Given the description of an element on the screen output the (x, y) to click on. 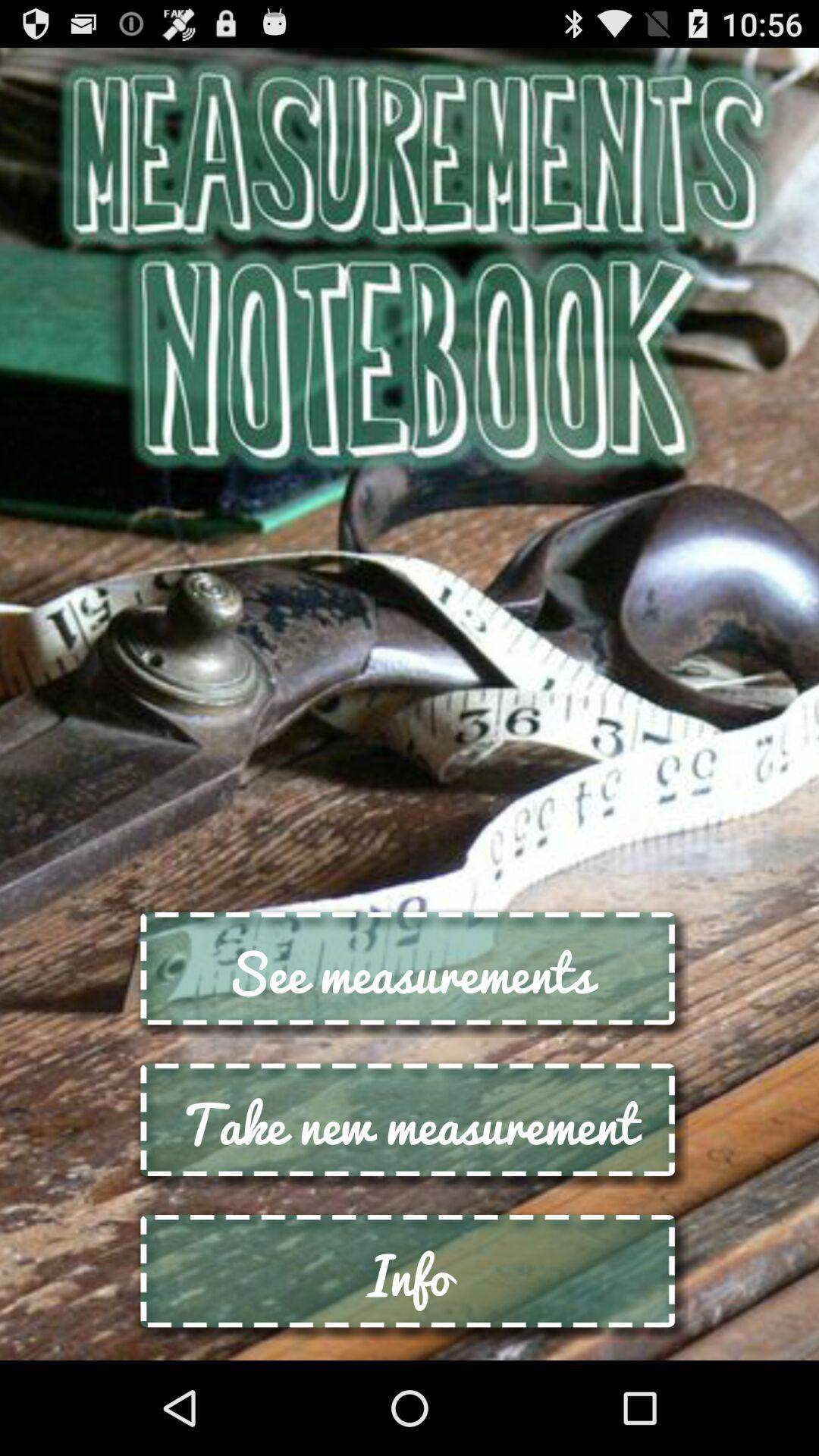
turn on the item above the info (409, 1123)
